Given the description of an element on the screen output the (x, y) to click on. 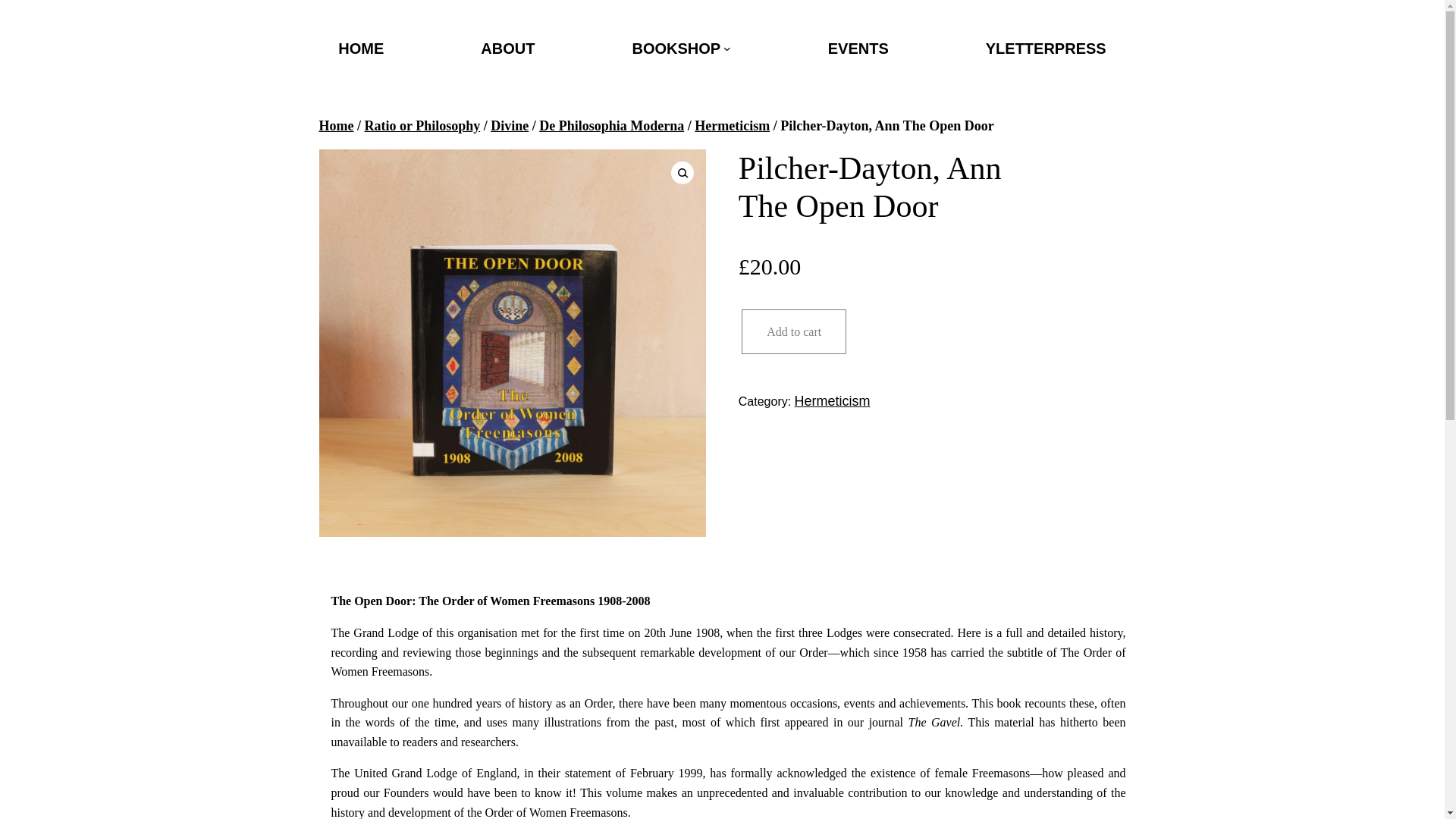
Hermeticism (732, 125)
EVENTS (858, 48)
Hermeticism (832, 400)
Divine (509, 125)
Home (335, 125)
Add to cart (793, 331)
Ratio or Philosophy (422, 125)
ABOUT (507, 48)
YLETTERPRESS (1045, 48)
HOME (360, 48)
De Philosophia Moderna (611, 125)
BOOKSHOP (675, 48)
